Given the description of an element on the screen output the (x, y) to click on. 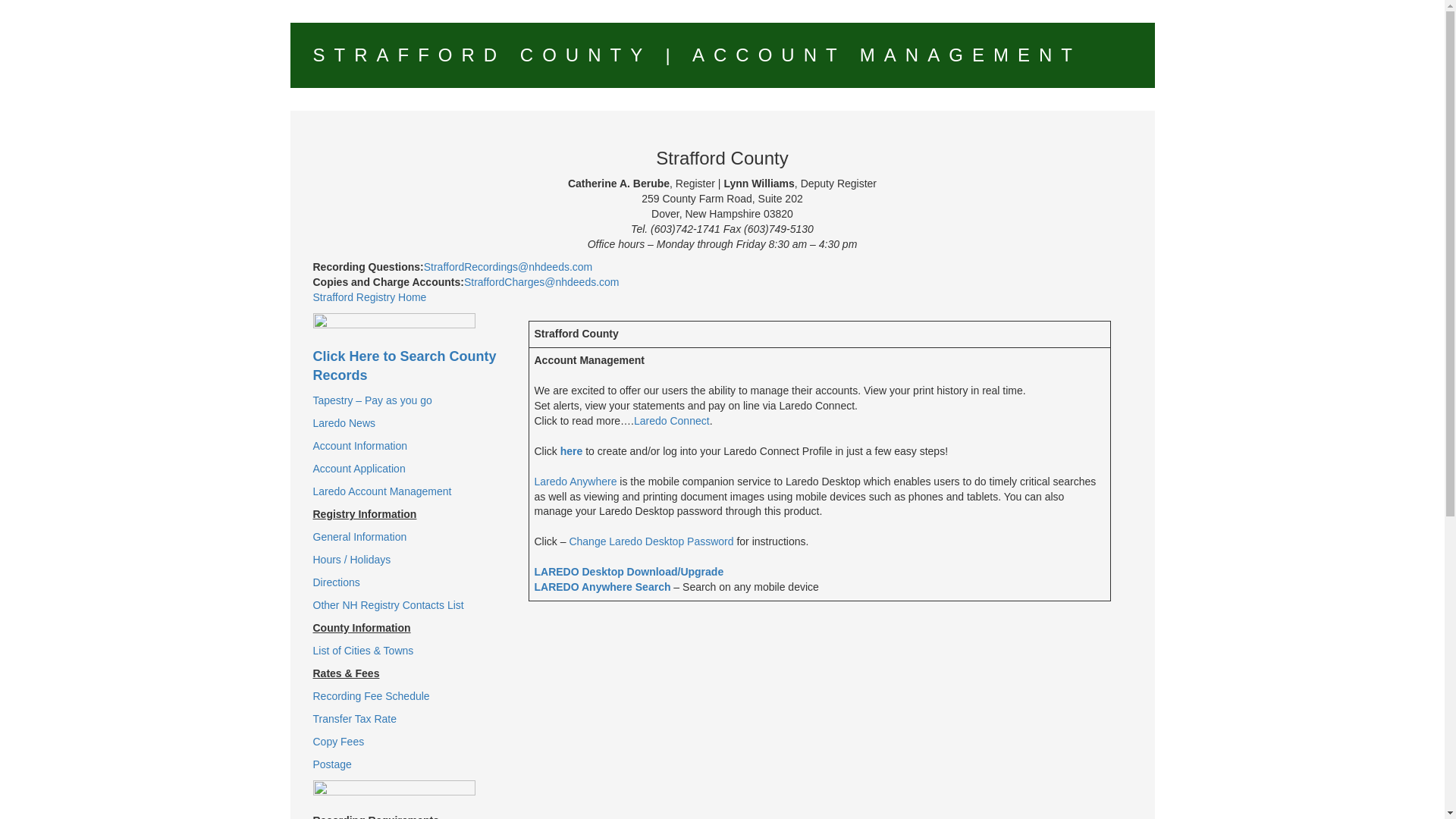
Laredo News (344, 422)
Click Here to Search County Records (404, 367)
Laredo Anywhere (574, 481)
Laredo Account Management (382, 491)
Other NH Registry Contacts List (388, 604)
here (571, 451)
Recording Fee Schedule (371, 695)
Strafford Registry Home (369, 297)
Postage (331, 764)
Copy Fees (338, 741)
